Given the description of an element on the screen output the (x, y) to click on. 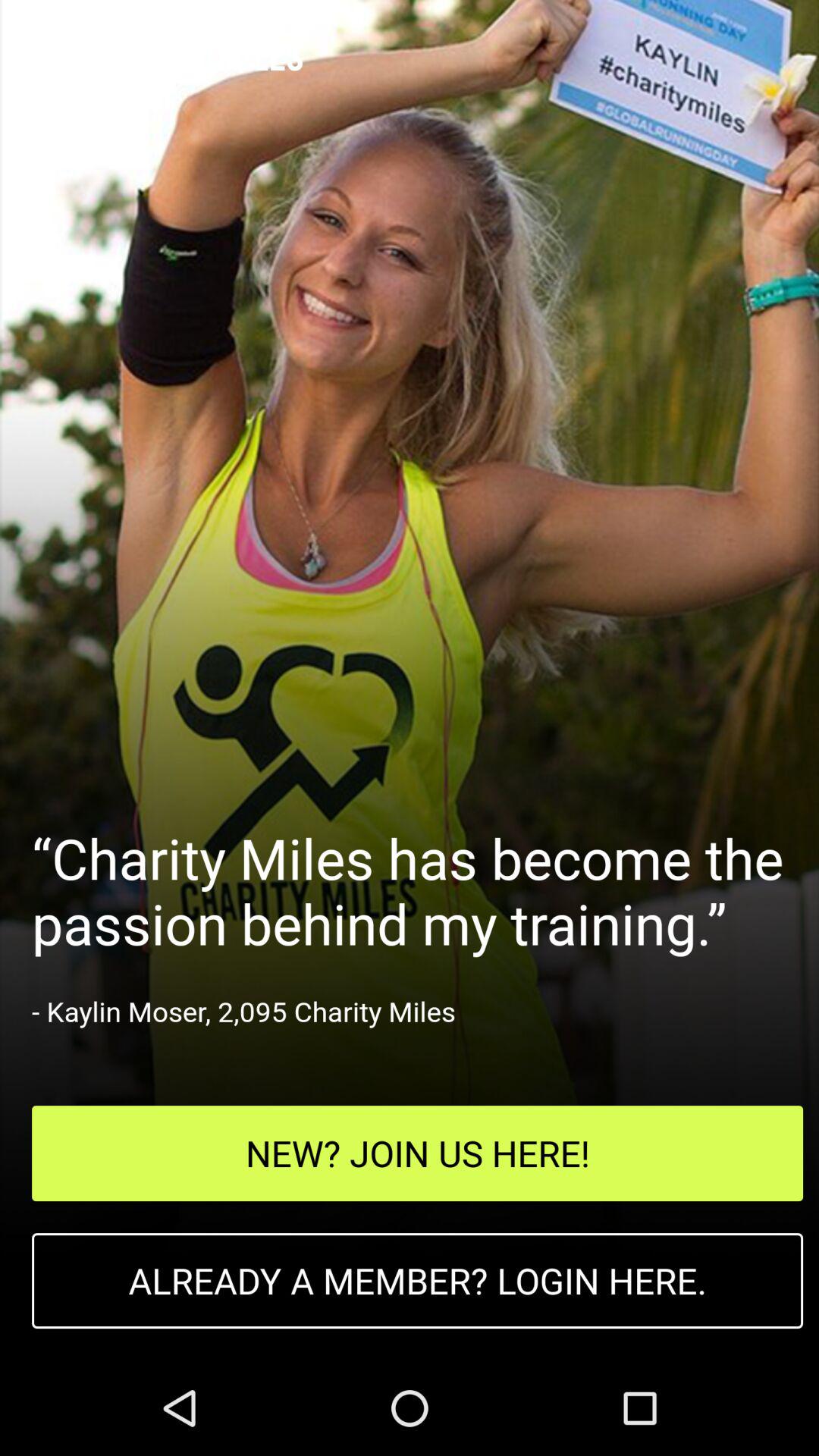
tap the new join us item (417, 1153)
